Given the description of an element on the screen output the (x, y) to click on. 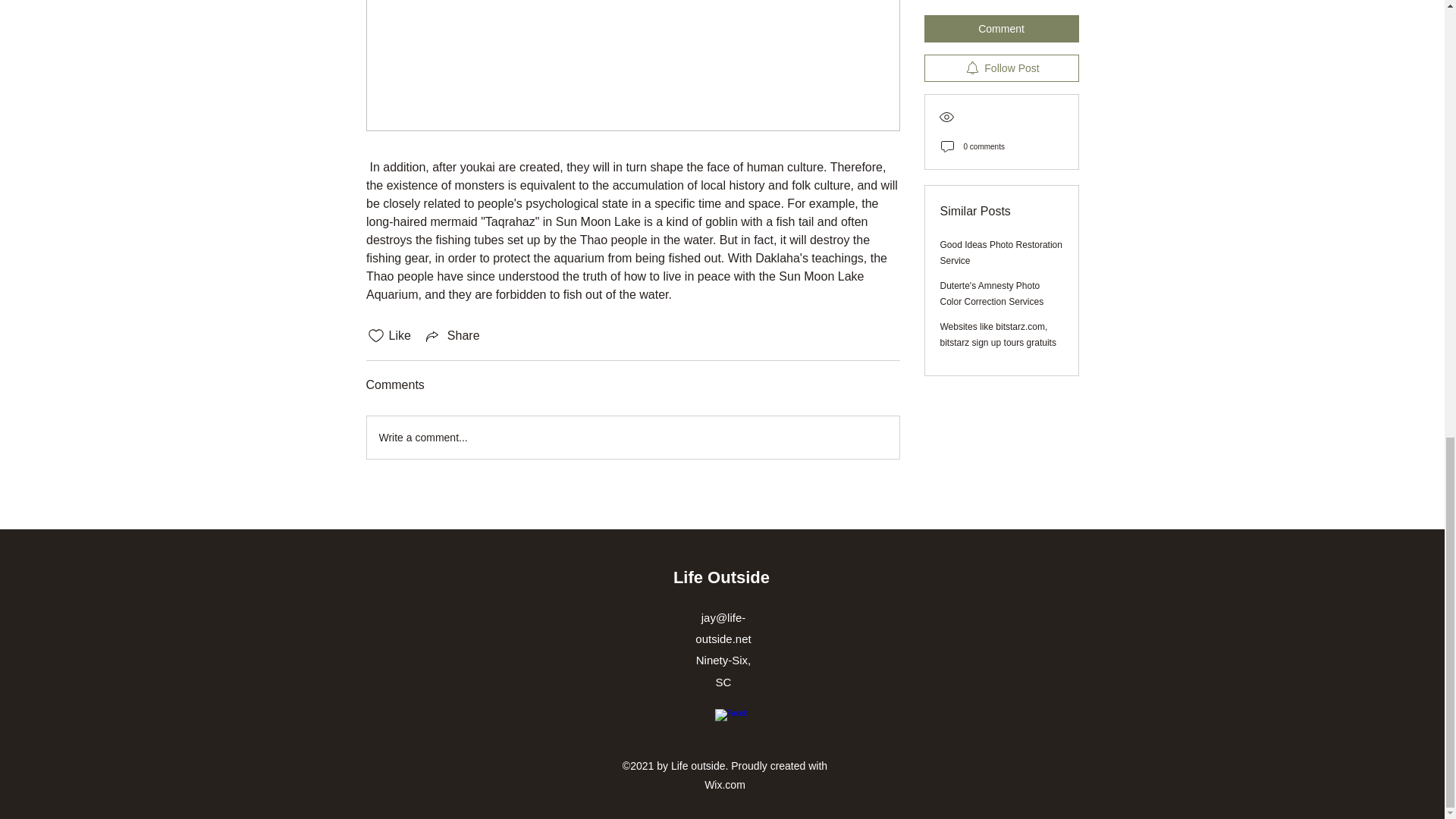
Share (451, 335)
Write a comment... (632, 437)
